Given the description of an element on the screen output the (x, y) to click on. 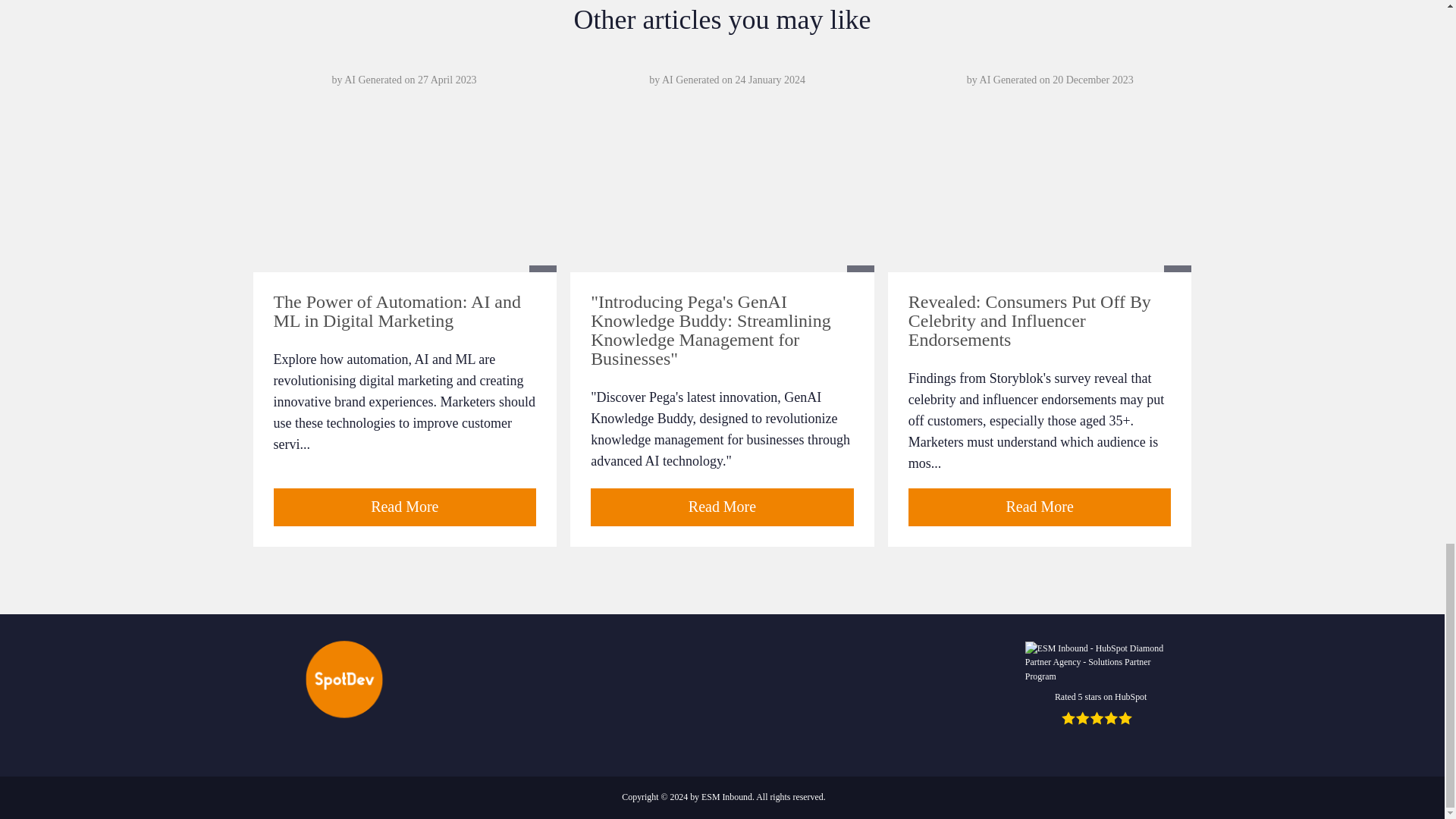
SpotDev Logo (342, 677)
AI Generated (690, 79)
Read More (1040, 507)
AI Generated (372, 79)
Read More (722, 507)
AI Generated (1007, 79)
The Power of Automation: AI and ML in Digital Marketing (396, 310)
